Given the description of an element on the screen output the (x, y) to click on. 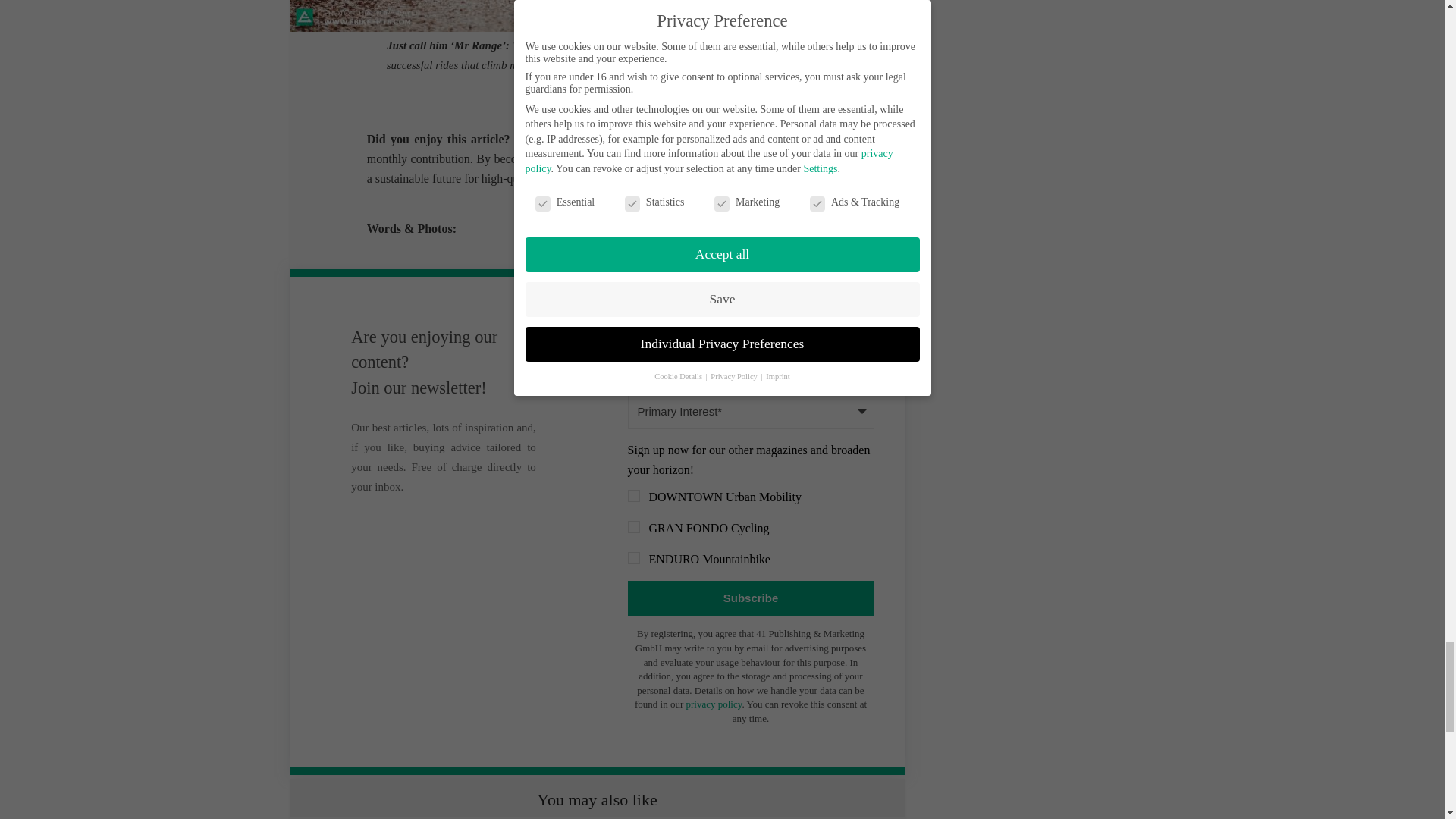
privacy policy (713, 704)
Click here to learn more (699, 178)
Subscribe (751, 597)
